Given the description of an element on the screen output the (x, y) to click on. 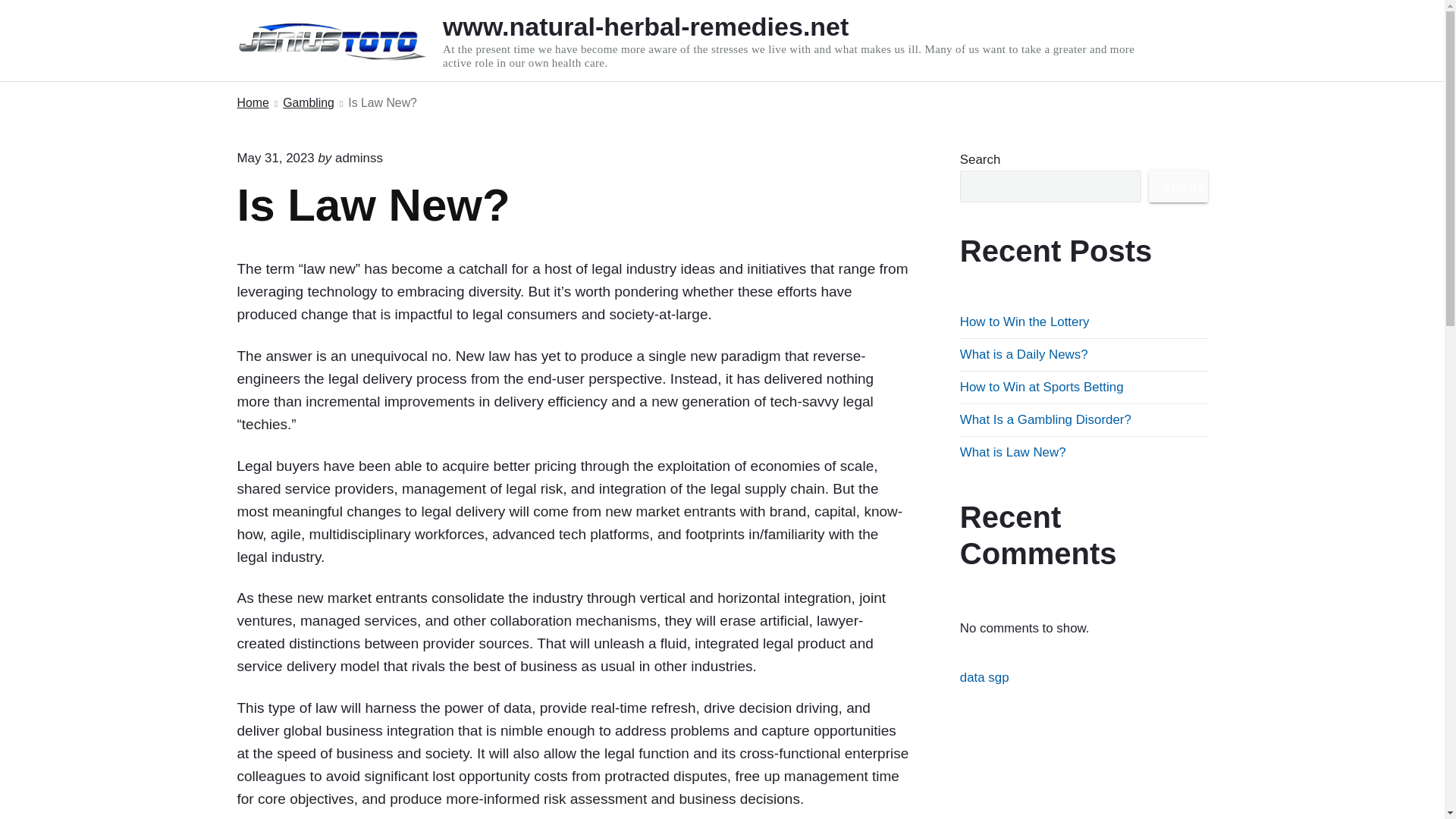
SEARCH (1178, 186)
Posts by adminss (358, 157)
adminss (358, 157)
Gambling (308, 103)
How to Win at Sports Betting (1041, 386)
data sgp (984, 677)
What Is a Gambling Disorder? (1045, 419)
Wednesday, May 31, 2023, 10:37 am (274, 157)
What is a Daily News? (1023, 354)
What is Law New? (1012, 452)
How to Win the Lottery (1024, 321)
Home (251, 103)
